Given the description of an element on the screen output the (x, y) to click on. 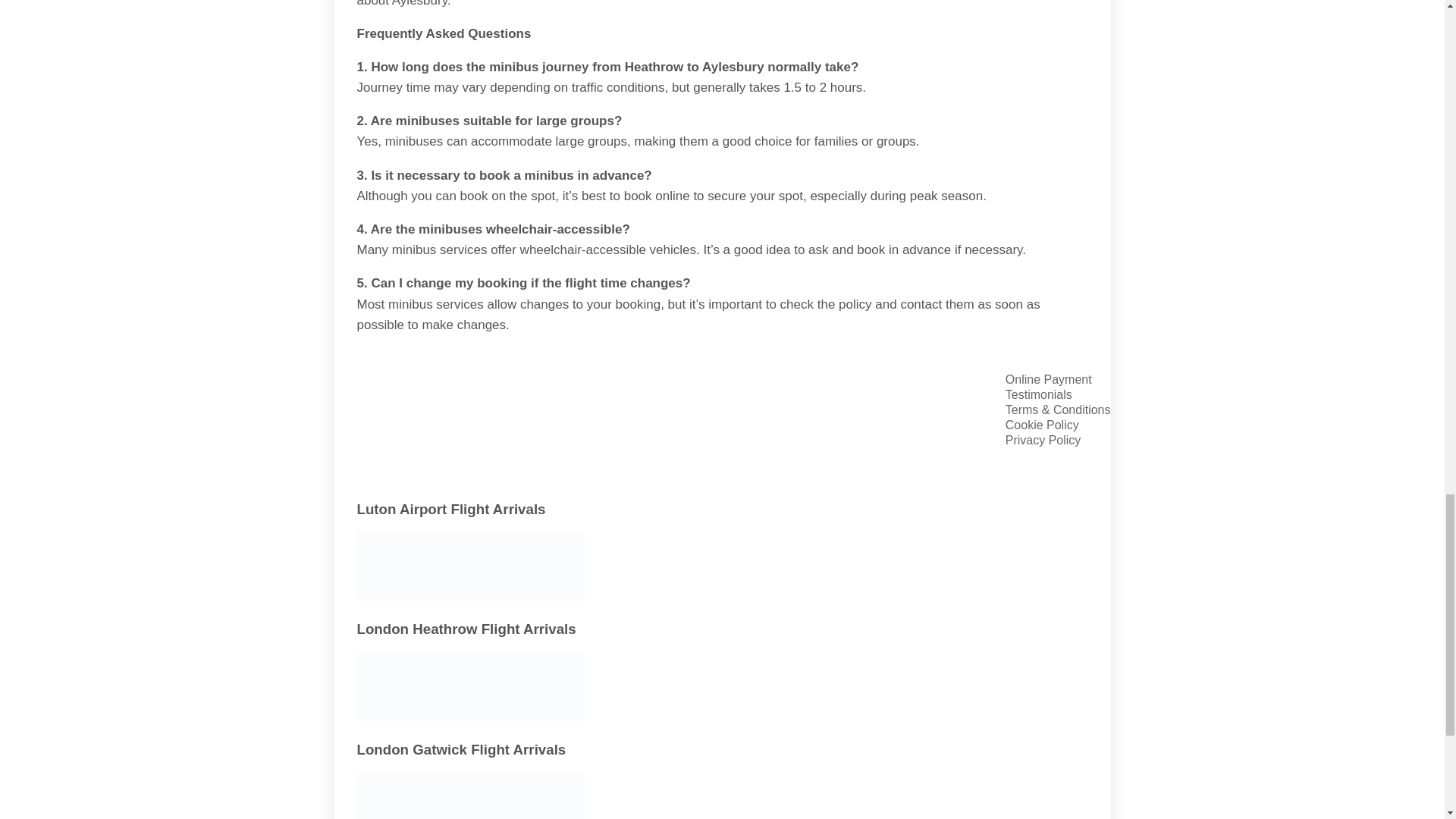
Online Payment (1058, 379)
Testimonials (1058, 394)
Cookie Policy (1058, 425)
Privacy Policy (1058, 440)
